Given the description of an element on the screen output the (x, y) to click on. 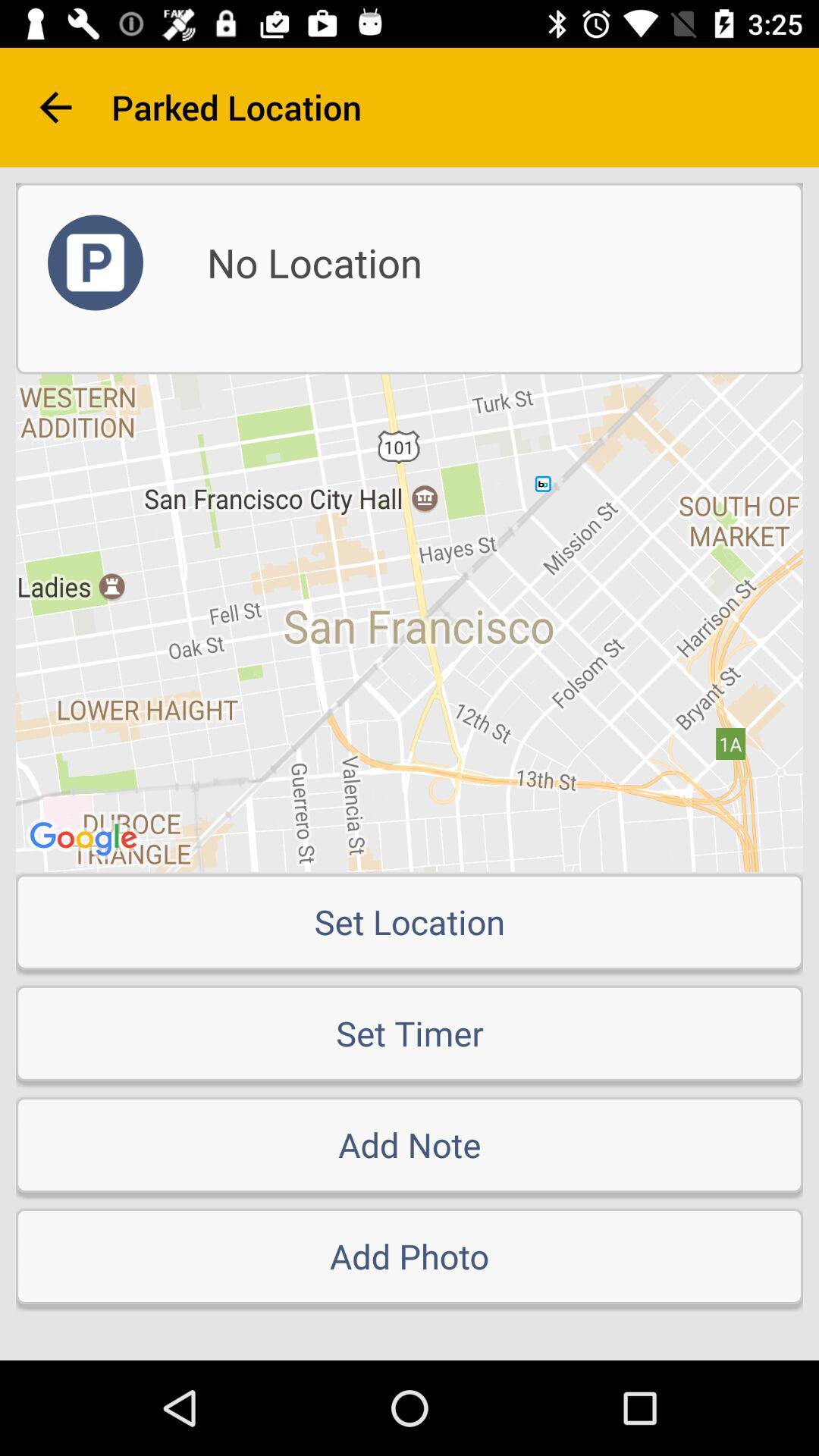
press the item above the set location icon (409, 622)
